Given the description of an element on the screen output the (x, y) to click on. 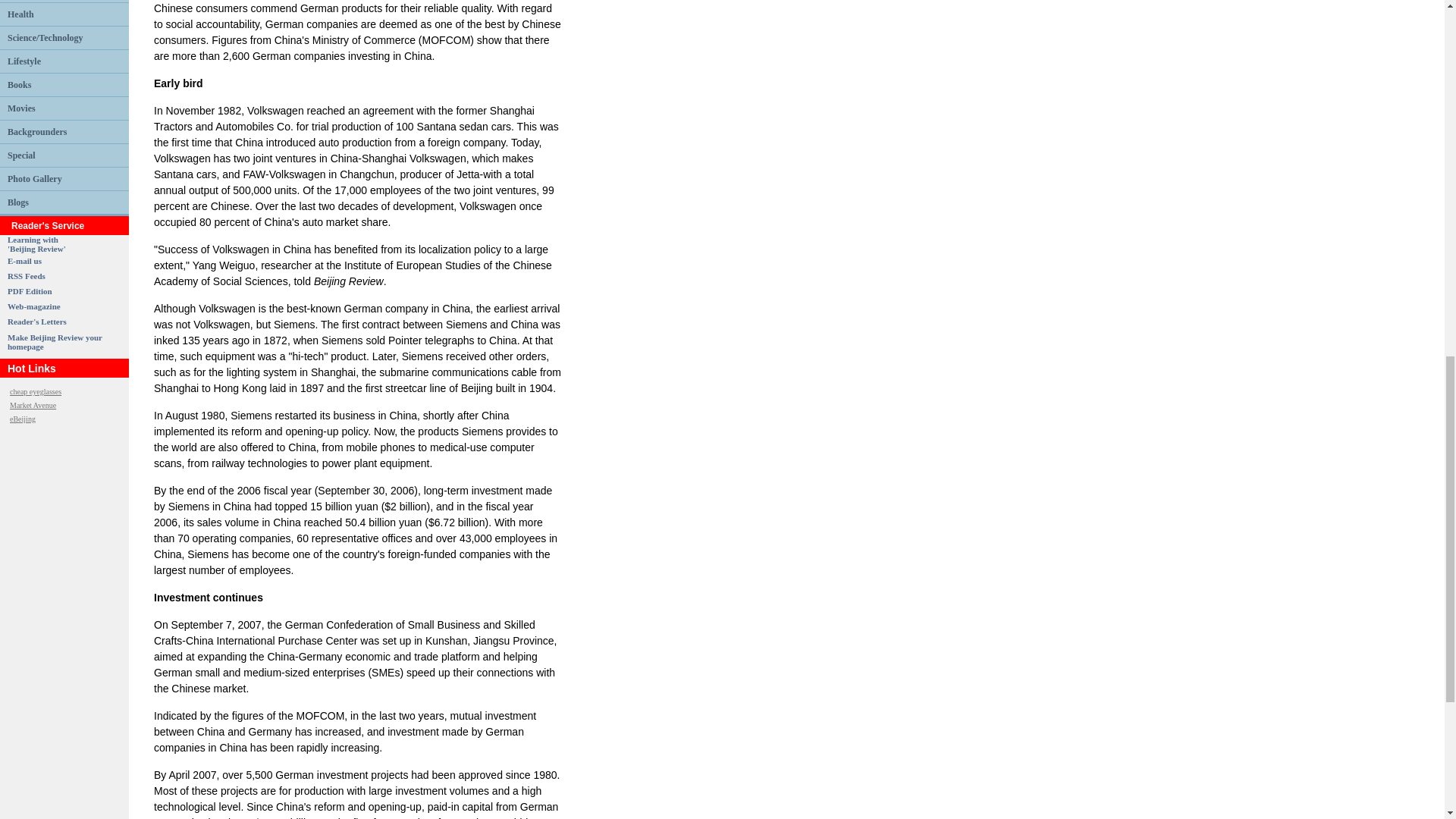
Lifestyle (23, 61)
PDF Edition (29, 290)
Blogs (18, 202)
Movies (20, 108)
Health (20, 14)
Reader's Letters (36, 320)
Backgrounders (36, 131)
RSS Feeds (36, 244)
Books (26, 275)
